Given the description of an element on the screen output the (x, y) to click on. 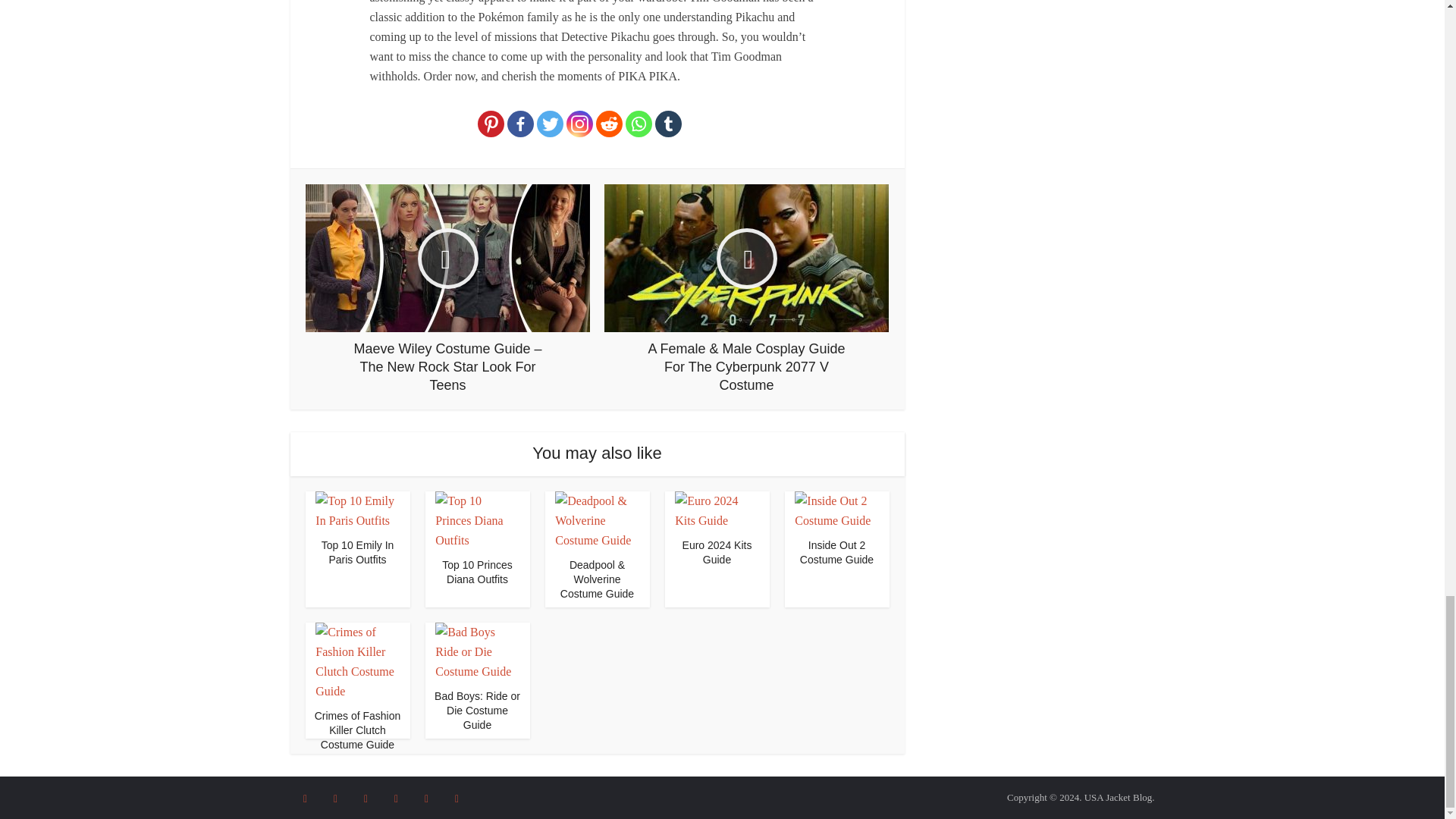
Euro 2024 Kits Guide (717, 551)
Top 10 Emily In Paris Outfits (357, 551)
Top 10 Princes Diana Outfits (476, 519)
Top 10 Emily In Paris Outfits (356, 509)
Inside Out 2 Costume Guide (836, 551)
Instagram (579, 123)
Euro 2024 Kits Guide (717, 551)
Bad Boys: Ride or Die Costume Guide (476, 710)
Whatsapp (639, 123)
Reddit (609, 123)
